Given the description of an element on the screen output the (x, y) to click on. 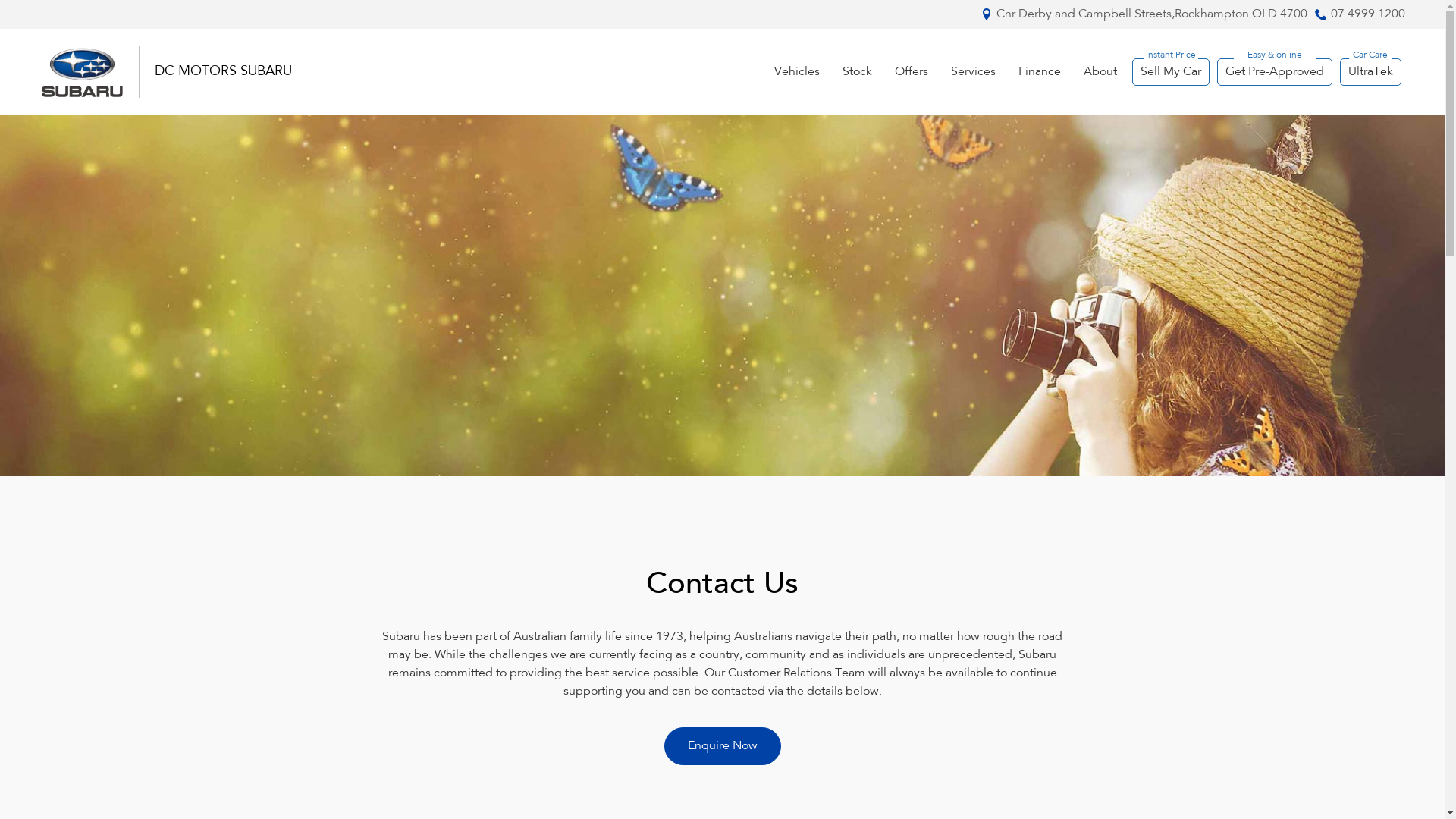
Sell My Car Element type: text (1169, 71)
Vehicles Element type: text (796, 71)
Offers Element type: text (910, 71)
Services Element type: text (972, 71)
Finance Element type: text (1039, 71)
UltraTek Element type: text (1369, 71)
Stock Element type: text (857, 71)
Get Pre-Approved Element type: text (1273, 71)
Cnr Derby and Campbell Streets,Rockhampton QLD 4700 Element type: text (1151, 14)
DC MOTORS SUBARU Element type: text (222, 71)
Enquire Now Element type: text (722, 746)
07 4999 1200 Element type: text (1367, 14)
About Element type: text (1100, 71)
